Given the description of an element on the screen output the (x, y) to click on. 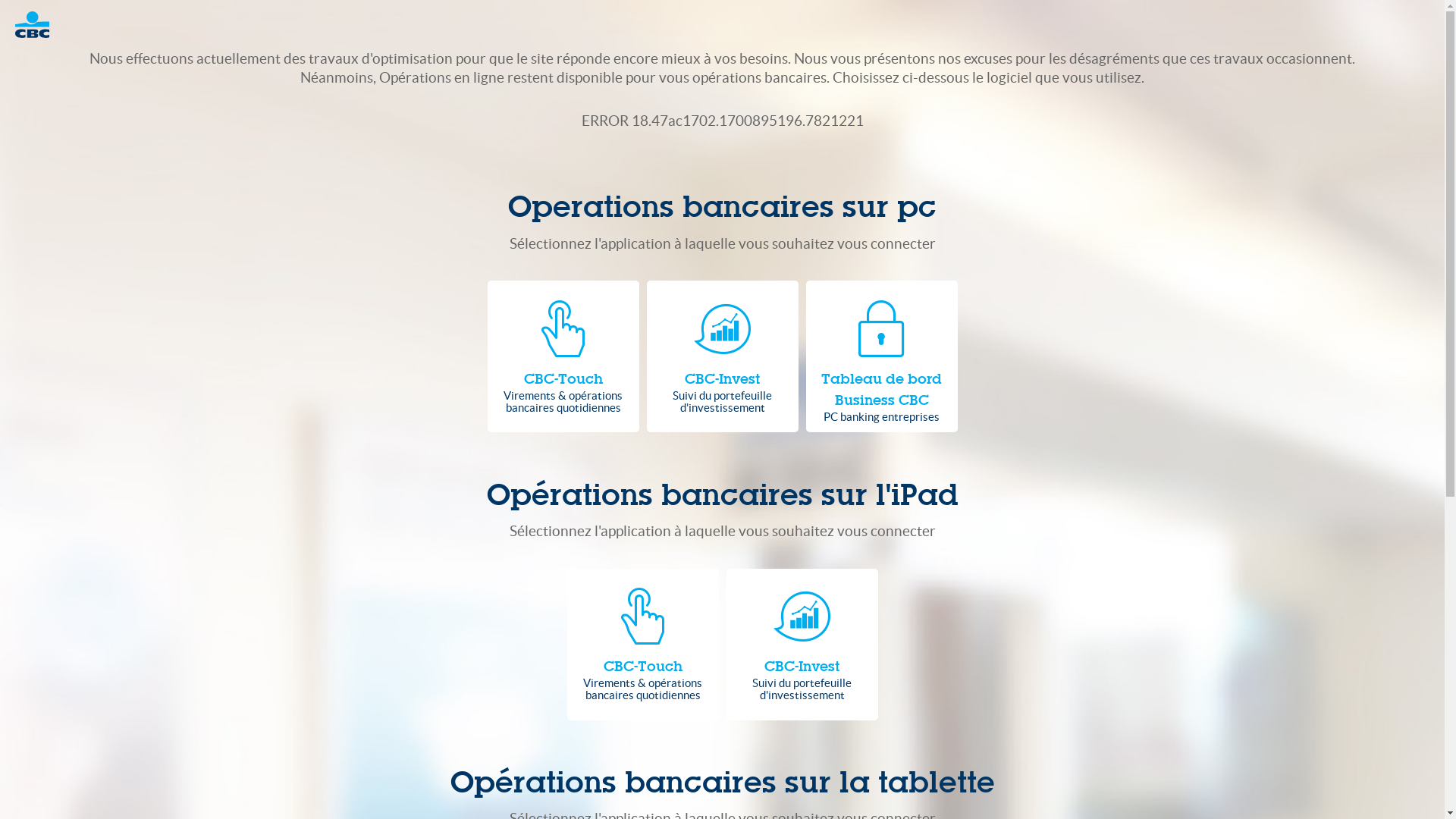
Tableau de bord Business CBC
PC banking entreprises Element type: text (881, 356)
Logo Element type: text (39, 24)
CBC-Invest
Suivi du portefeuille d'investissement Element type: text (802, 644)
CBC-Invest
Suivi du portefeuille d'investissement Element type: text (721, 356)
